Given the description of an element on the screen output the (x, y) to click on. 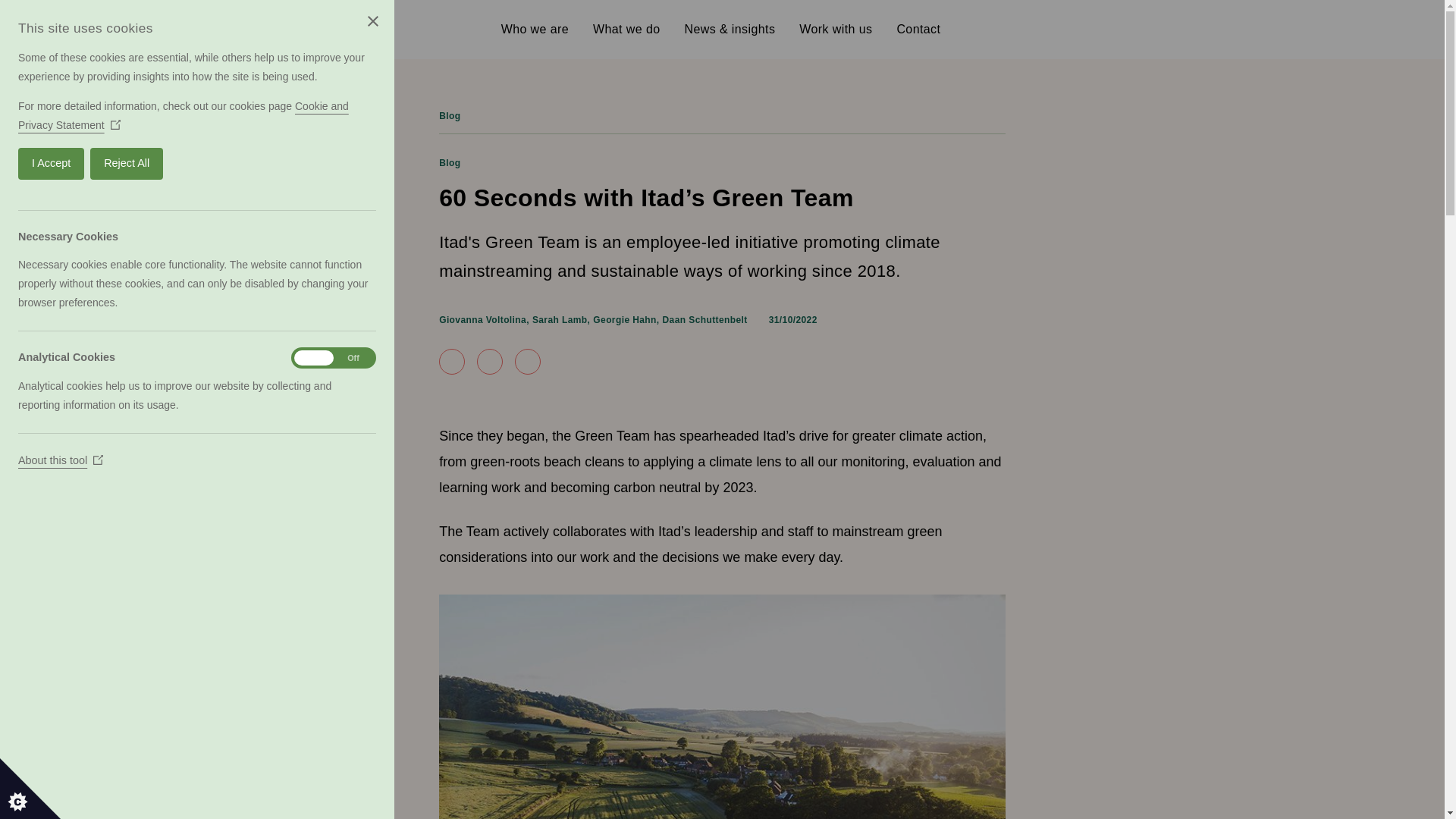
Share on LinkedIn (527, 361)
See other content by Daan Schuttenbelt (705, 319)
What we do (625, 29)
Contact (918, 29)
Go to Georgie Hahn's profile (624, 319)
Share on Facebook (451, 361)
LinkedIn (1103, 29)
Work with us (835, 29)
Go to homepage (330, 29)
Go to Giovanna Voltolina's profile (482, 319)
Blog (449, 115)
Share on Twitter (489, 361)
Cookie and Privacy Statement (57, 115)
Giovanna Voltolina (482, 319)
Who we are (534, 29)
